Given the description of an element on the screen output the (x, y) to click on. 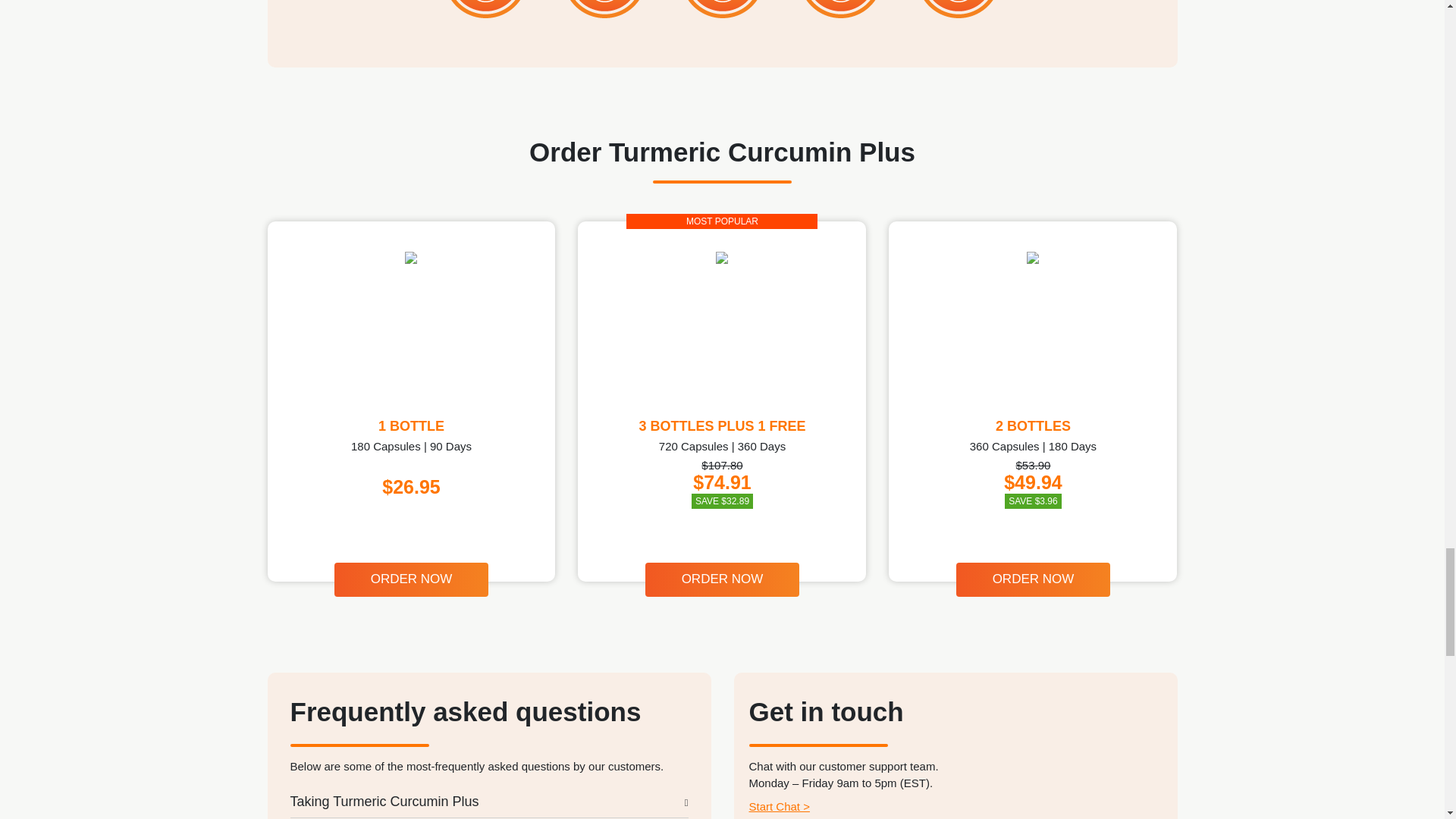
ORDER NOW (722, 579)
ORDER NOW (411, 579)
ORDER NOW (1033, 579)
3 Bottles Plus 1 Free (722, 257)
1 Bottle (410, 257)
2 Bottles  (1032, 257)
